Given the description of an element on the screen output the (x, y) to click on. 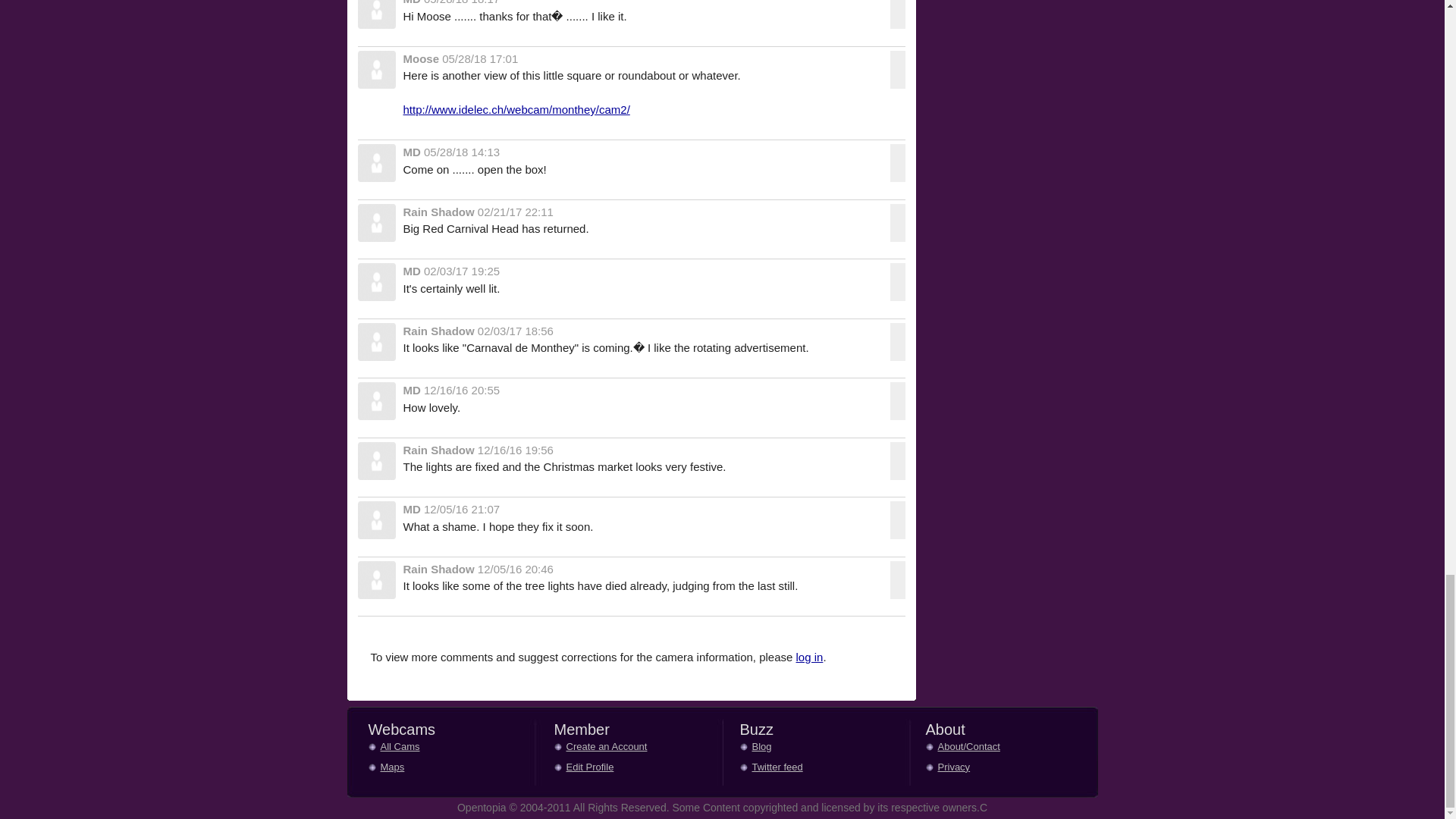
Privacy (964, 769)
Create an Account (592, 747)
Blog (779, 747)
Maps (407, 769)
All Cams (407, 747)
log in (810, 656)
Edit Profile (592, 769)
Twitter feed (779, 769)
